Given the description of an element on the screen output the (x, y) to click on. 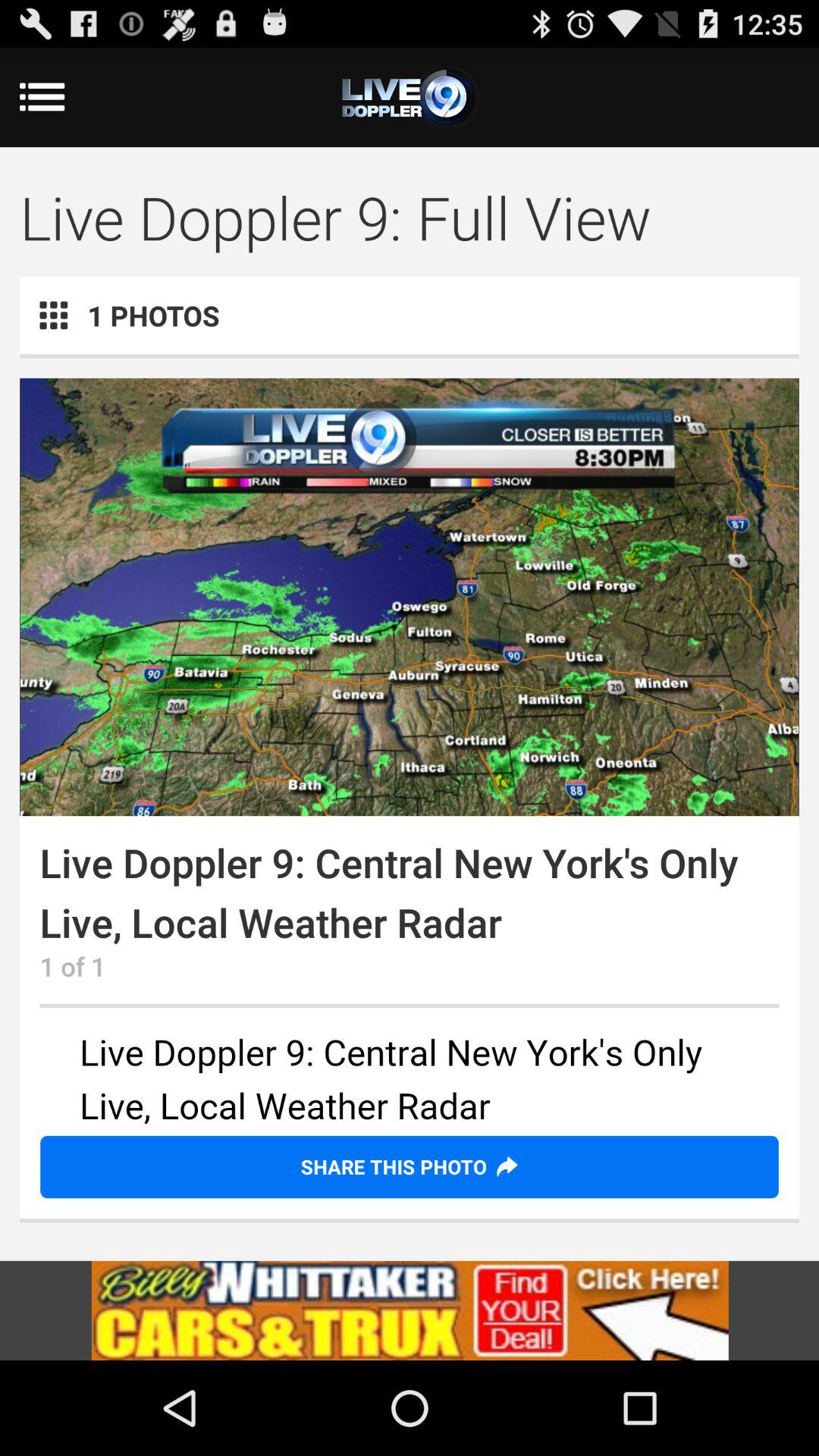
see more info in that area (409, 1081)
